Given the description of an element on the screen output the (x, y) to click on. 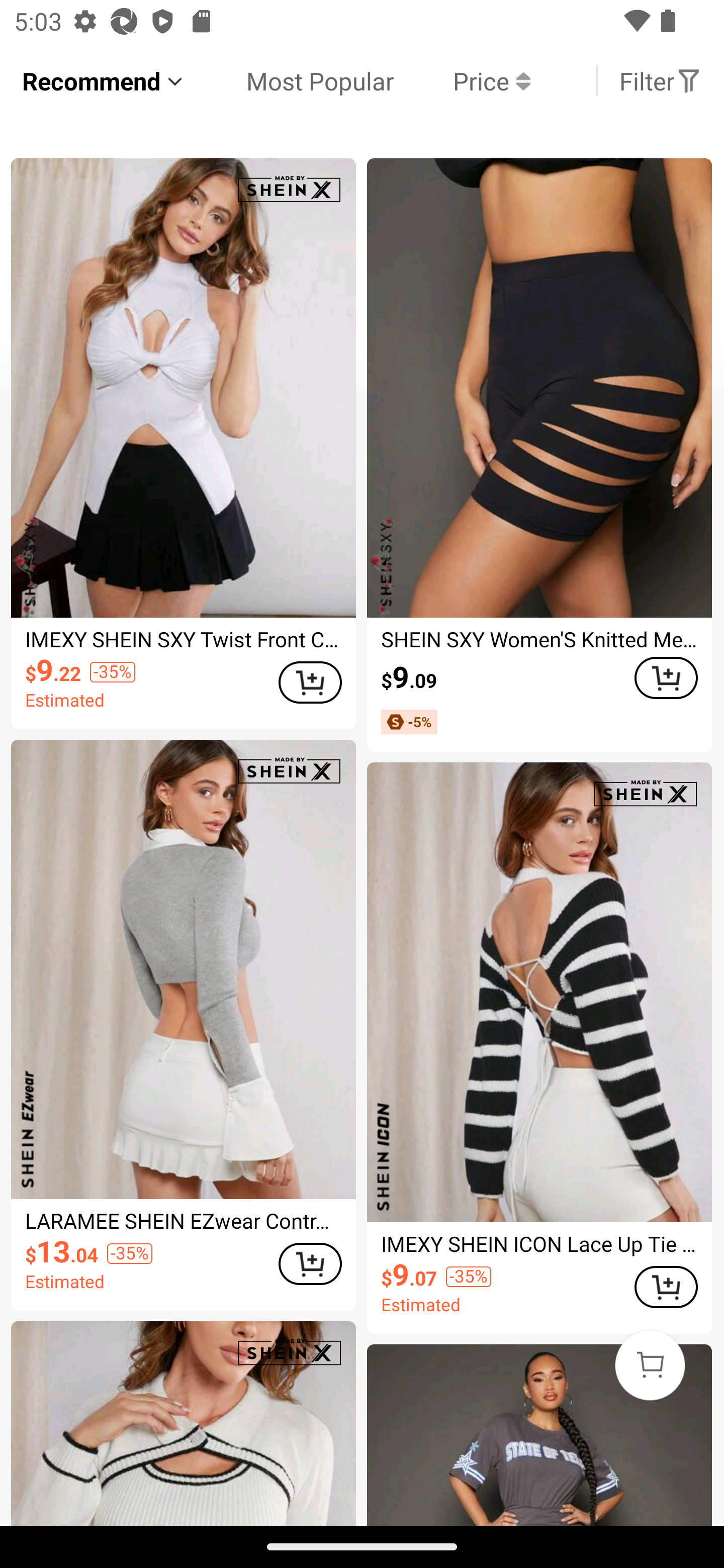
Recommend (103, 80)
Most Popular (289, 80)
Price (461, 80)
Filter (660, 80)
ADD TO CART (665, 677)
ADD TO CART (309, 682)
ADD TO CART (309, 1264)
ADD TO CART (665, 1286)
